Given the description of an element on the screen output the (x, y) to click on. 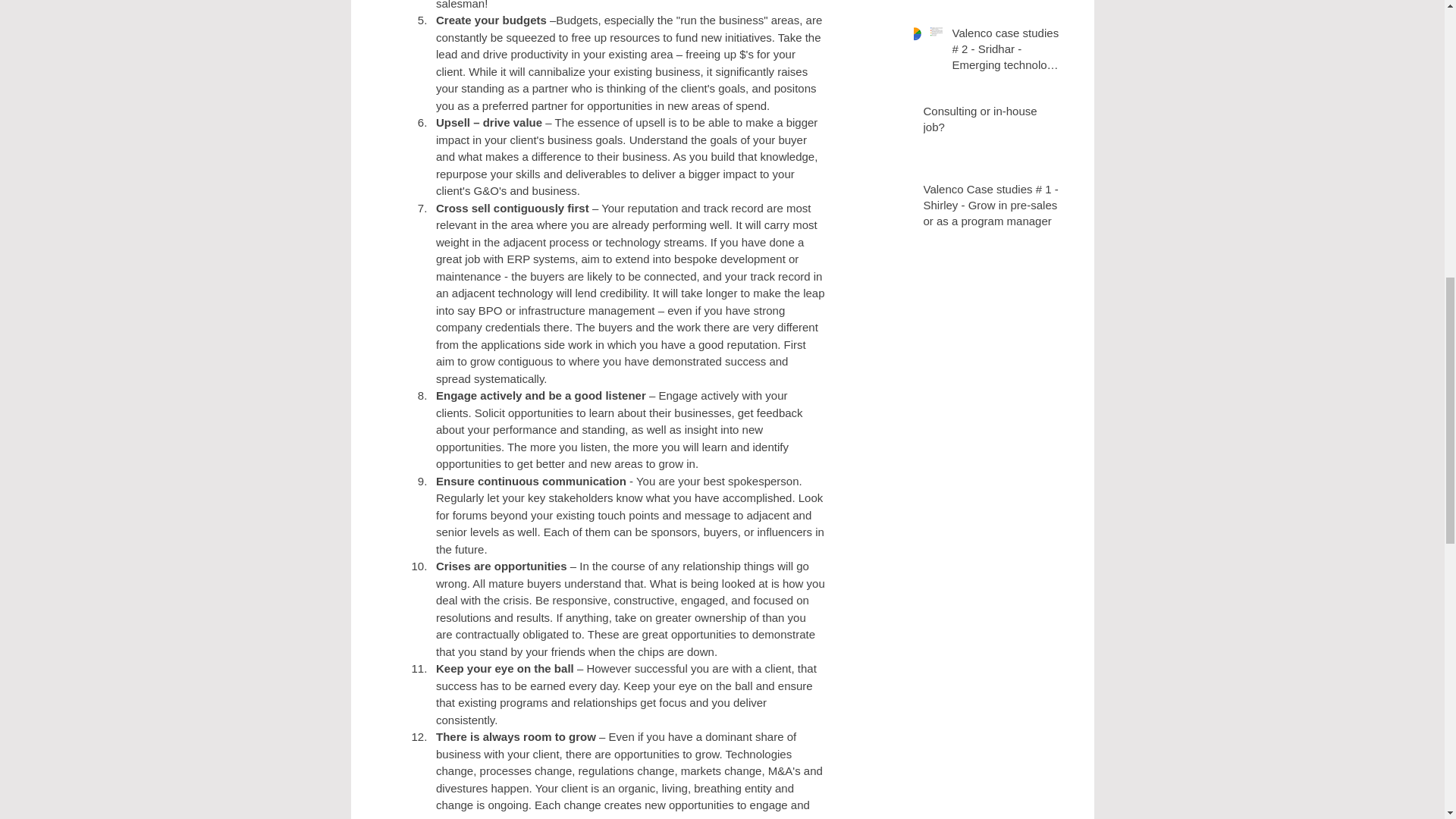
Consulting or in-house job? (992, 121)
